Given the description of an element on the screen output the (x, y) to click on. 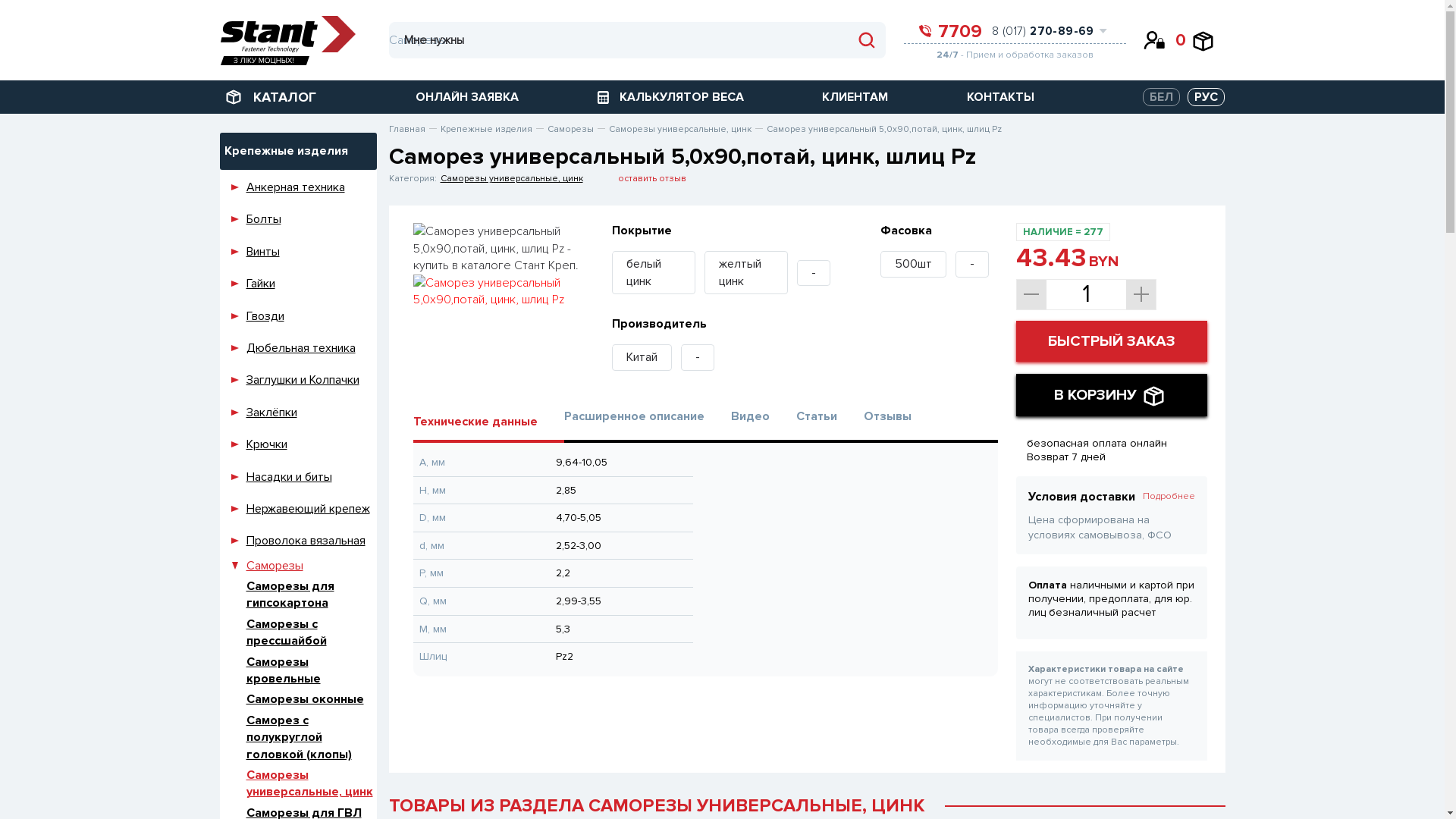
8 (017) 270-89-69 Element type: text (1039, 30)
7709 Element type: text (950, 30)
